Given the description of an element on the screen output the (x, y) to click on. 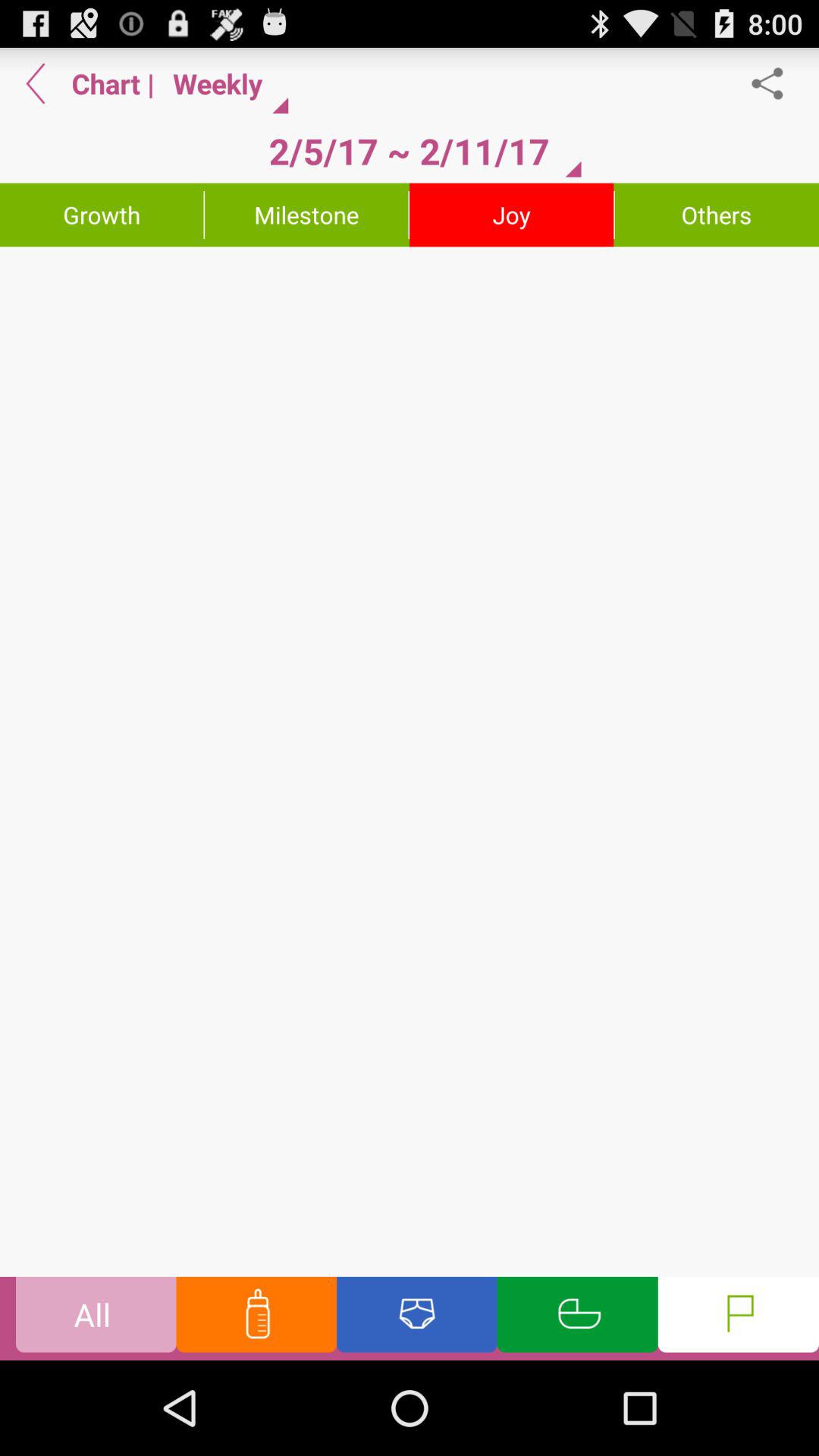
sleeping schedule (577, 1318)
